Given the description of an element on the screen output the (x, y) to click on. 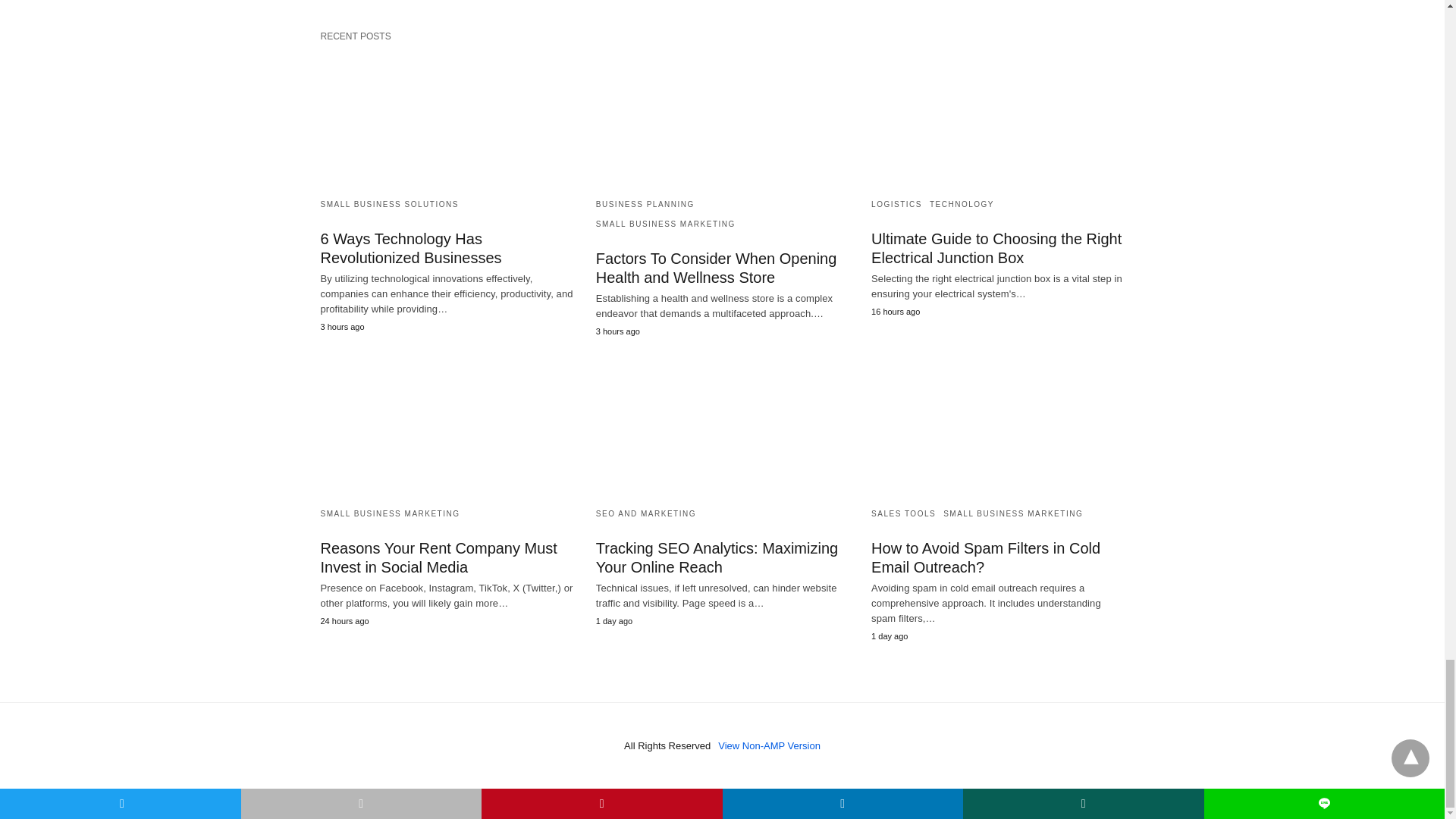
6 Ways Technology Has Revolutionized Businesses (446, 118)
LOGISTICS (895, 203)
Factors To Consider When Opening Health and Wellness Store (721, 118)
SEO AND MARKETING (645, 513)
SMALL BUSINESS MARKETING (390, 513)
Ultimate Guide to Choosing the Right Electrical Junction Box (995, 248)
How to Avoid Spam Filters in Cold Email Outreach? (997, 427)
SALES TOOLS (903, 513)
Reasons Your Rent Company Must Invest in Social Media (446, 427)
SMALL BUSINESS MARKETING (665, 224)
SMALL BUSINESS SOLUTIONS (389, 203)
TECHNOLOGY (962, 203)
Ultimate Guide to Choosing the Right Electrical Junction Box (997, 118)
Reasons Your Rent Company Must Invest in Social Media (438, 557)
Tracking SEO Analytics: Maximizing Your Online Reach (721, 427)
